Given the description of an element on the screen output the (x, y) to click on. 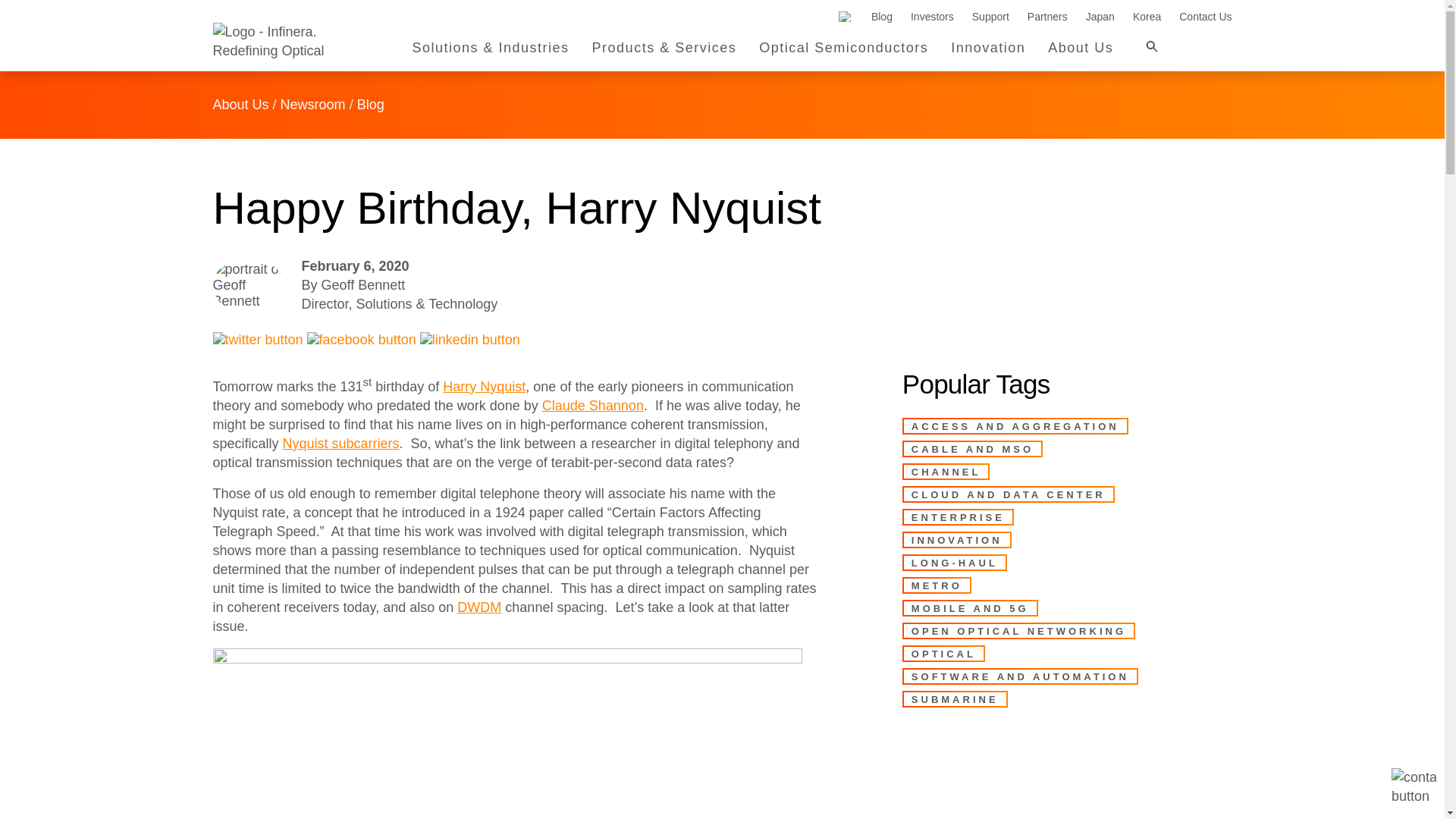
About Us (1080, 52)
Innovation (987, 52)
Contact Us (1205, 16)
Blog (881, 16)
Japan (1100, 16)
Support (990, 16)
Korea (1146, 16)
Investors (932, 16)
Partners (1047, 16)
Optical Semiconductors (843, 52)
